Given the description of an element on the screen output the (x, y) to click on. 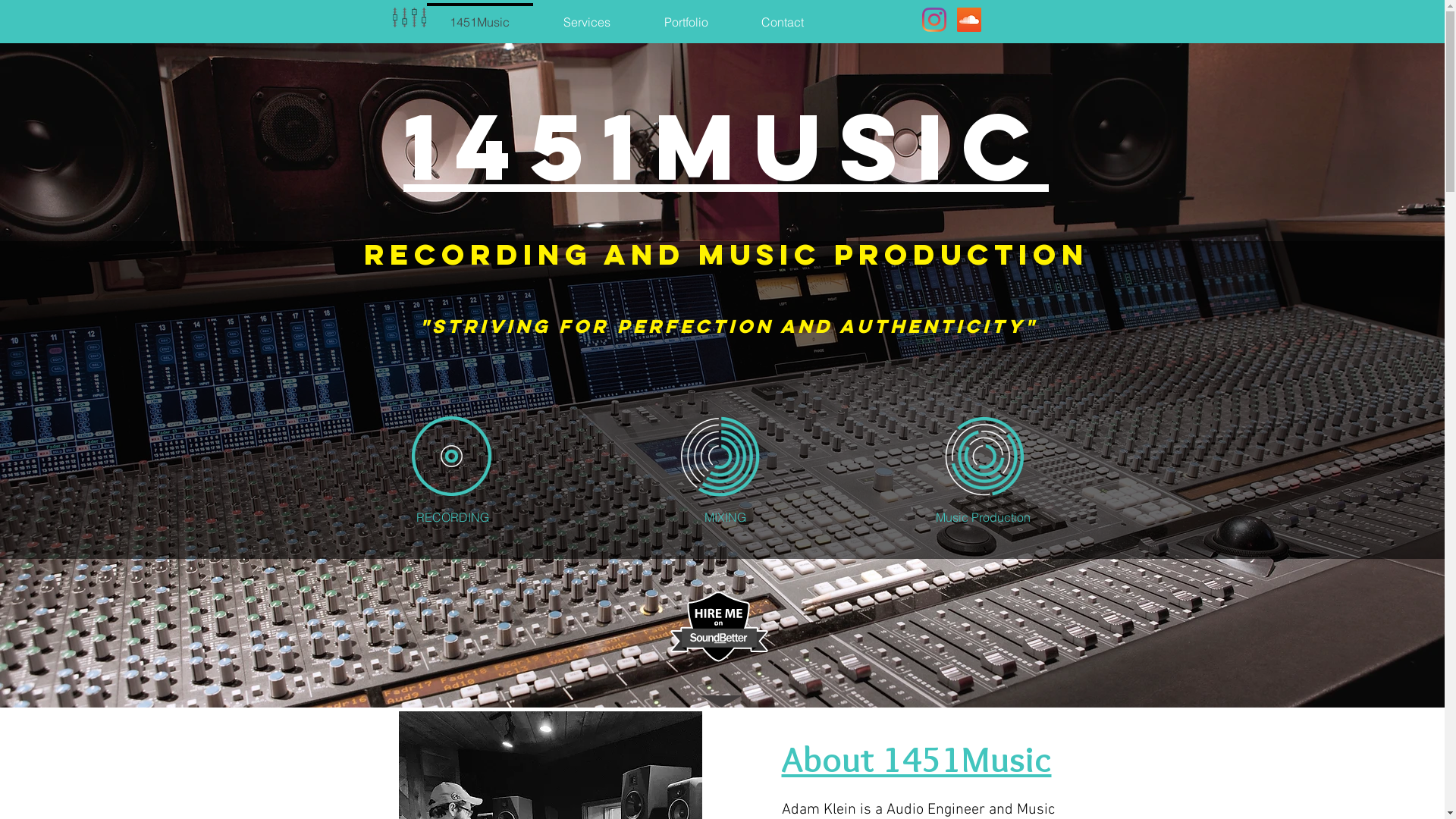
1451Music Element type: text (479, 15)
Embedded Content Element type: hover (719, 629)
Portfolio Element type: text (685, 15)
Contact Element type: text (781, 15)
Services Element type: text (586, 15)
